Given the description of an element on the screen output the (x, y) to click on. 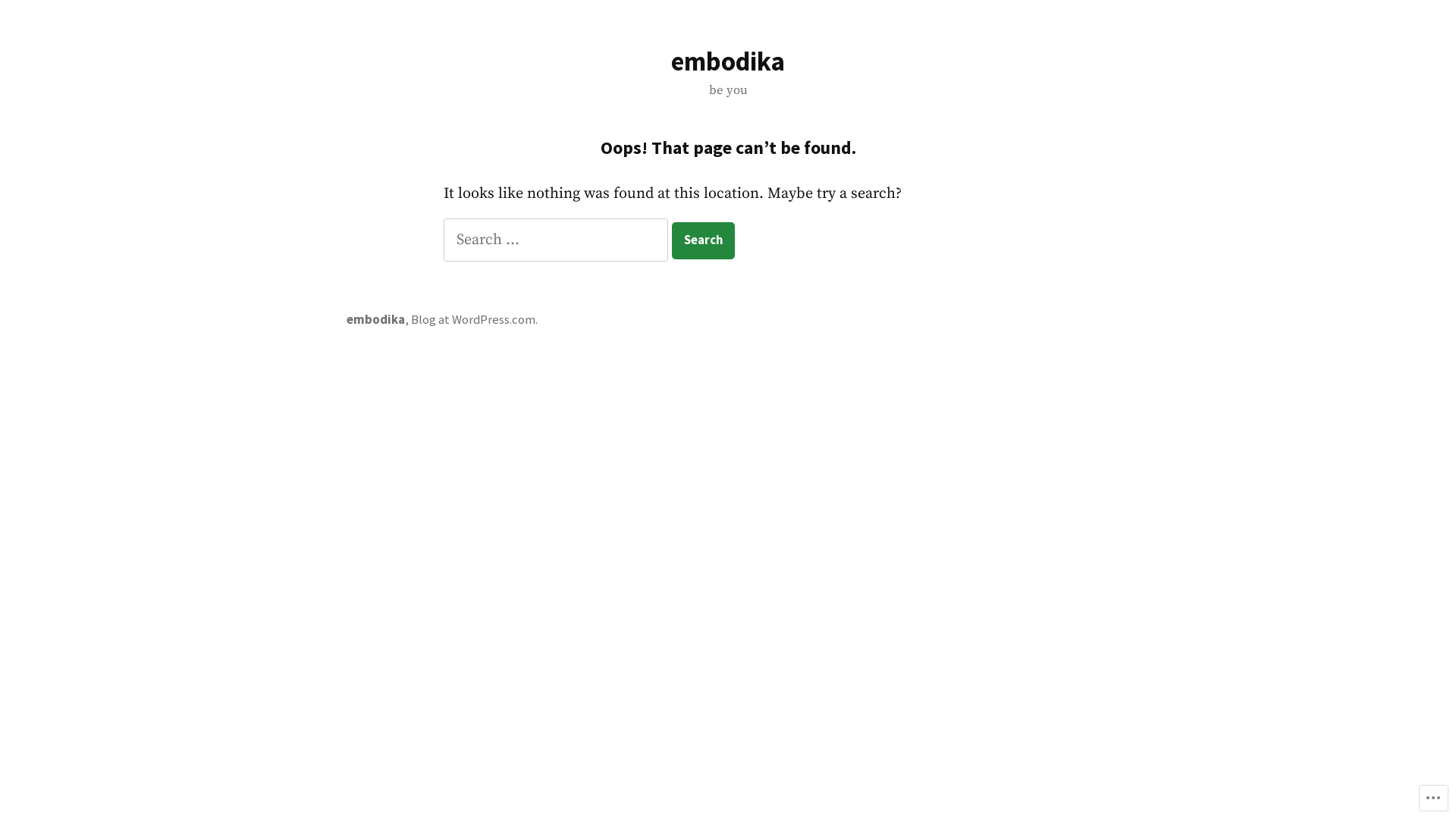
Blog at WordPress.com. Element type: text (474, 319)
Search Element type: text (702, 240)
embodika Element type: text (375, 319)
embodika Element type: text (727, 60)
